Given the description of an element on the screen output the (x, y) to click on. 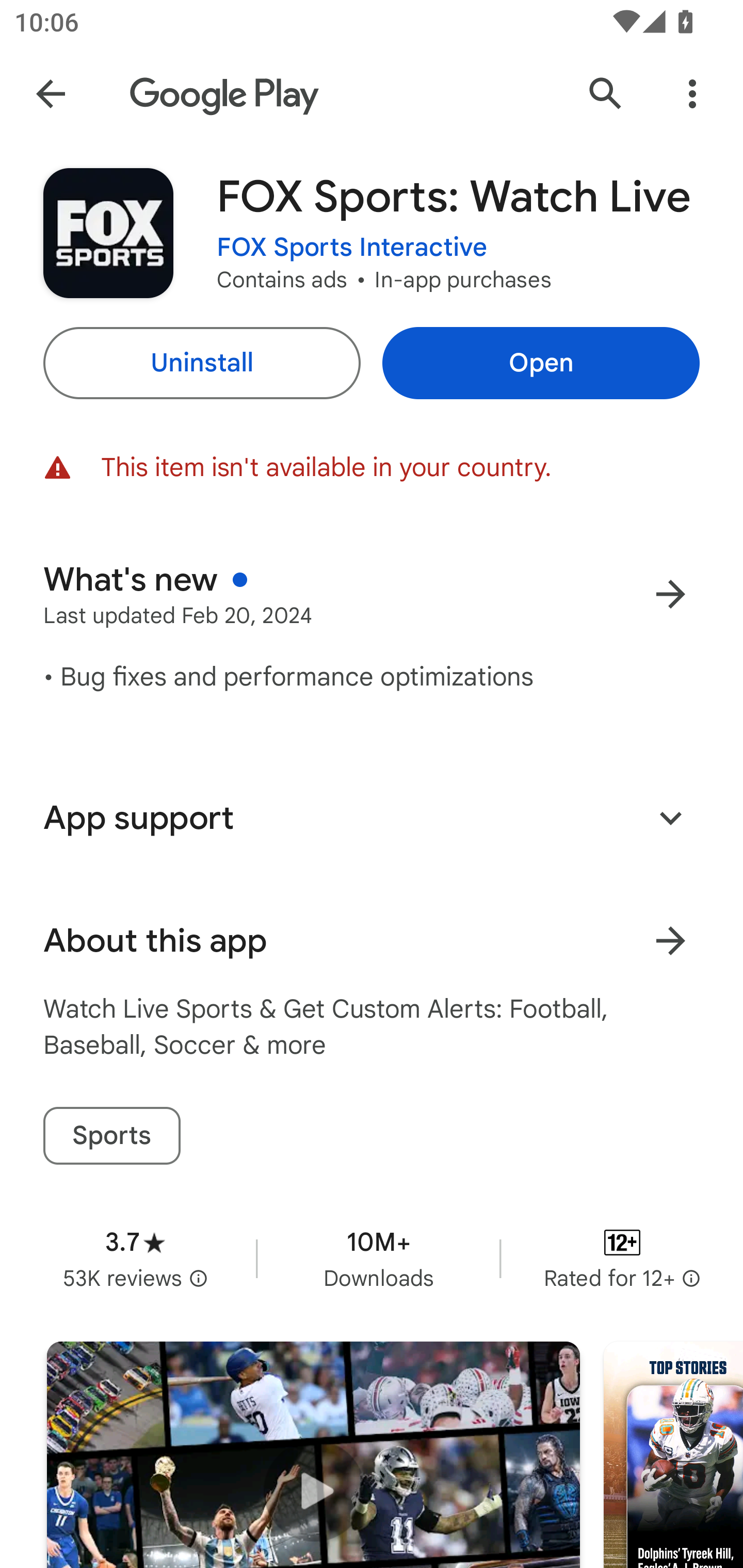
Navigate up (50, 93)
Search Google Play (605, 93)
More Options (692, 93)
FOX Sports Interactive (351, 247)
Uninstall (201, 362)
Open (540, 362)
More results for What's new (670, 594)
App support Expand (371, 817)
Expand (670, 817)
About this app Learn more About this app (371, 940)
Learn more About this app (670, 940)
Sports tag (111, 1135)
Average rating 3.7 stars in 53 thousand reviews (135, 1258)
Content rating Rated for 12+ (622, 1258)
Play trailer for "FOX Sports: Watch Live" (313, 1455)
